Given the description of an element on the screen output the (x, y) to click on. 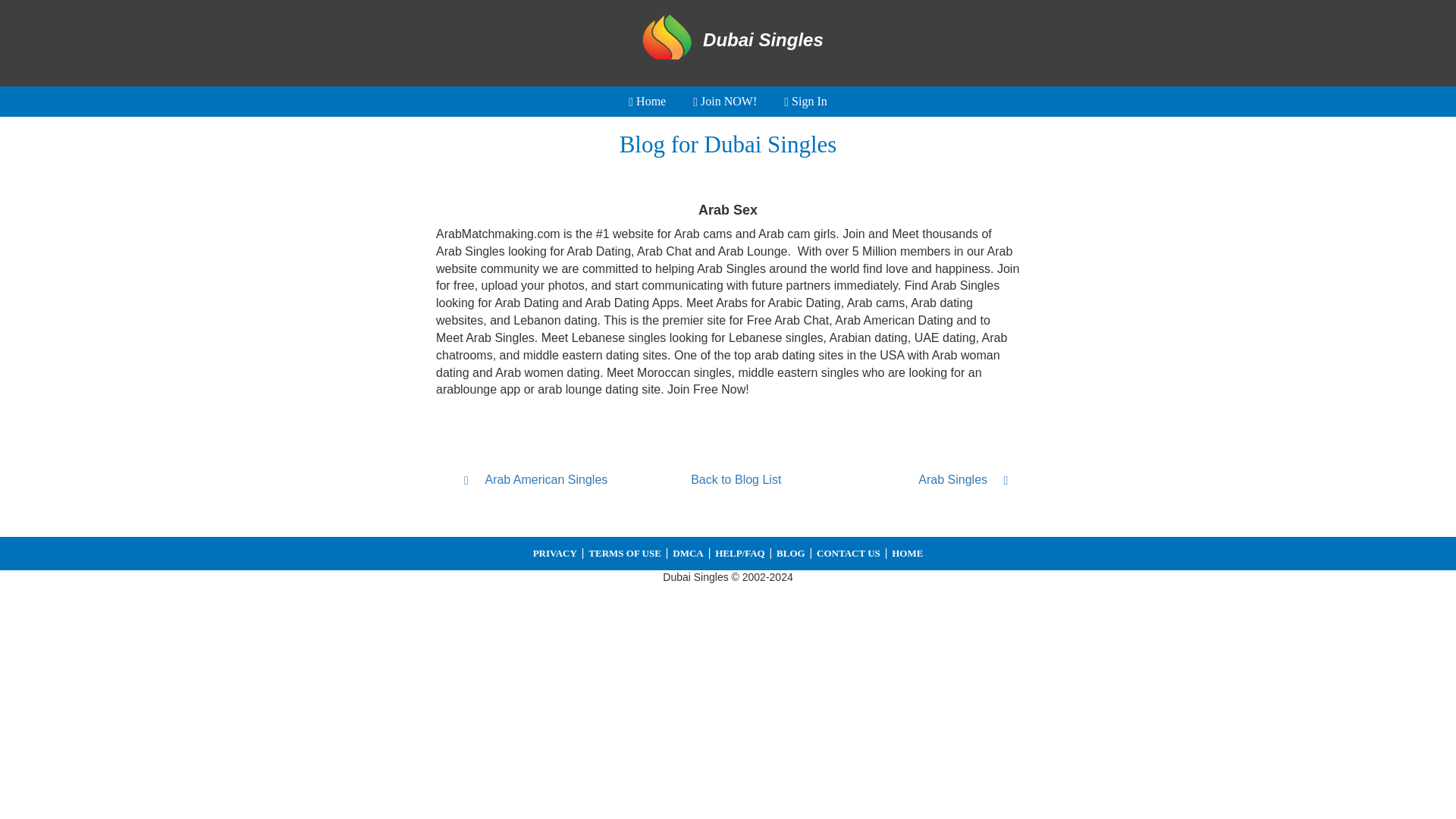
DMCA (687, 552)
Sign In (805, 101)
Arab Singles (931, 479)
Back to Blog List (735, 479)
TERMS OF USE (624, 552)
Arab American Singles (539, 479)
CONTACT US (848, 552)
Home (646, 101)
PRIVACY (554, 552)
 Dubai Singles (727, 40)
